Given the description of an element on the screen output the (x, y) to click on. 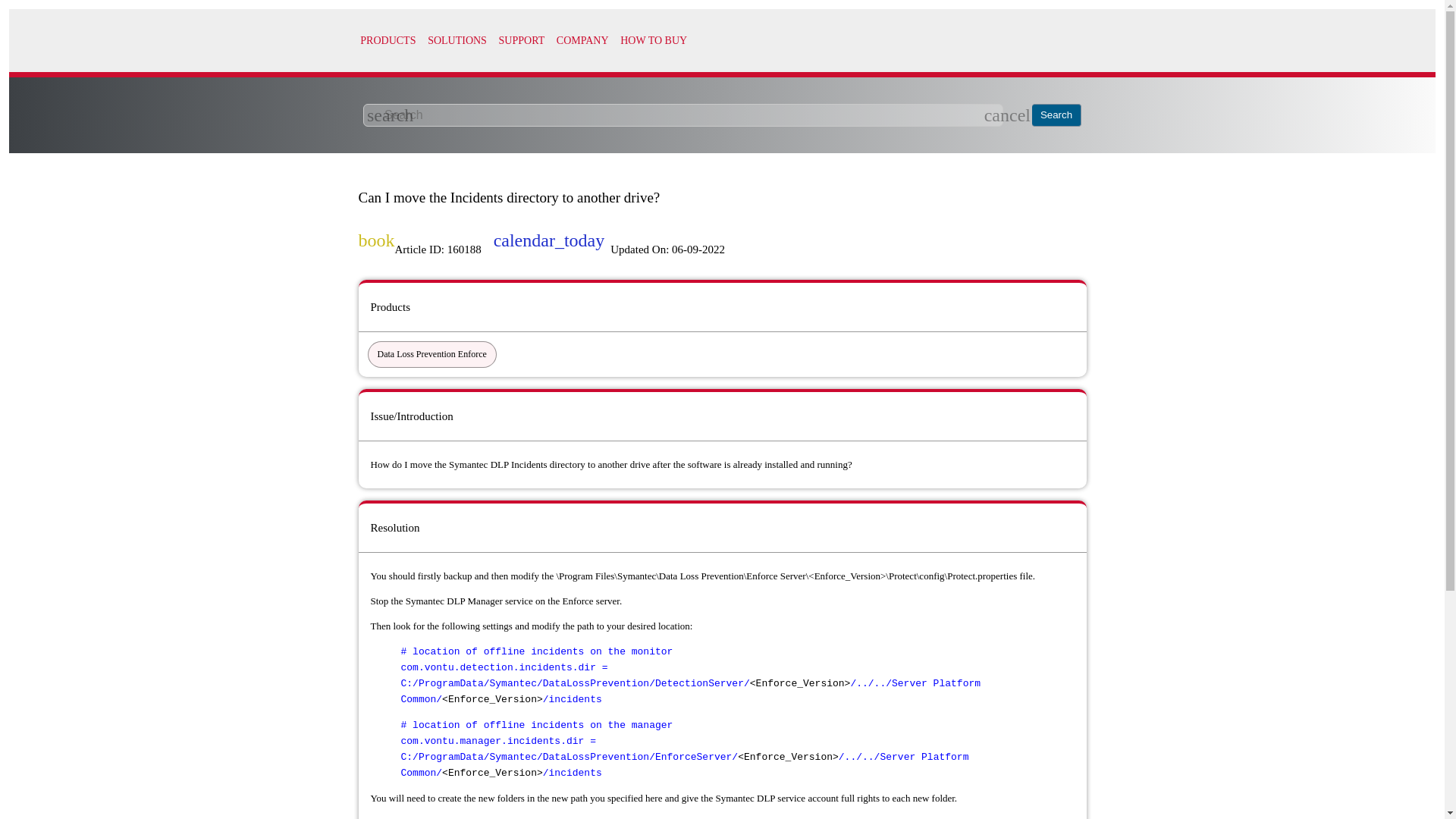
Search (1056, 115)
